Given the description of an element on the screen output the (x, y) to click on. 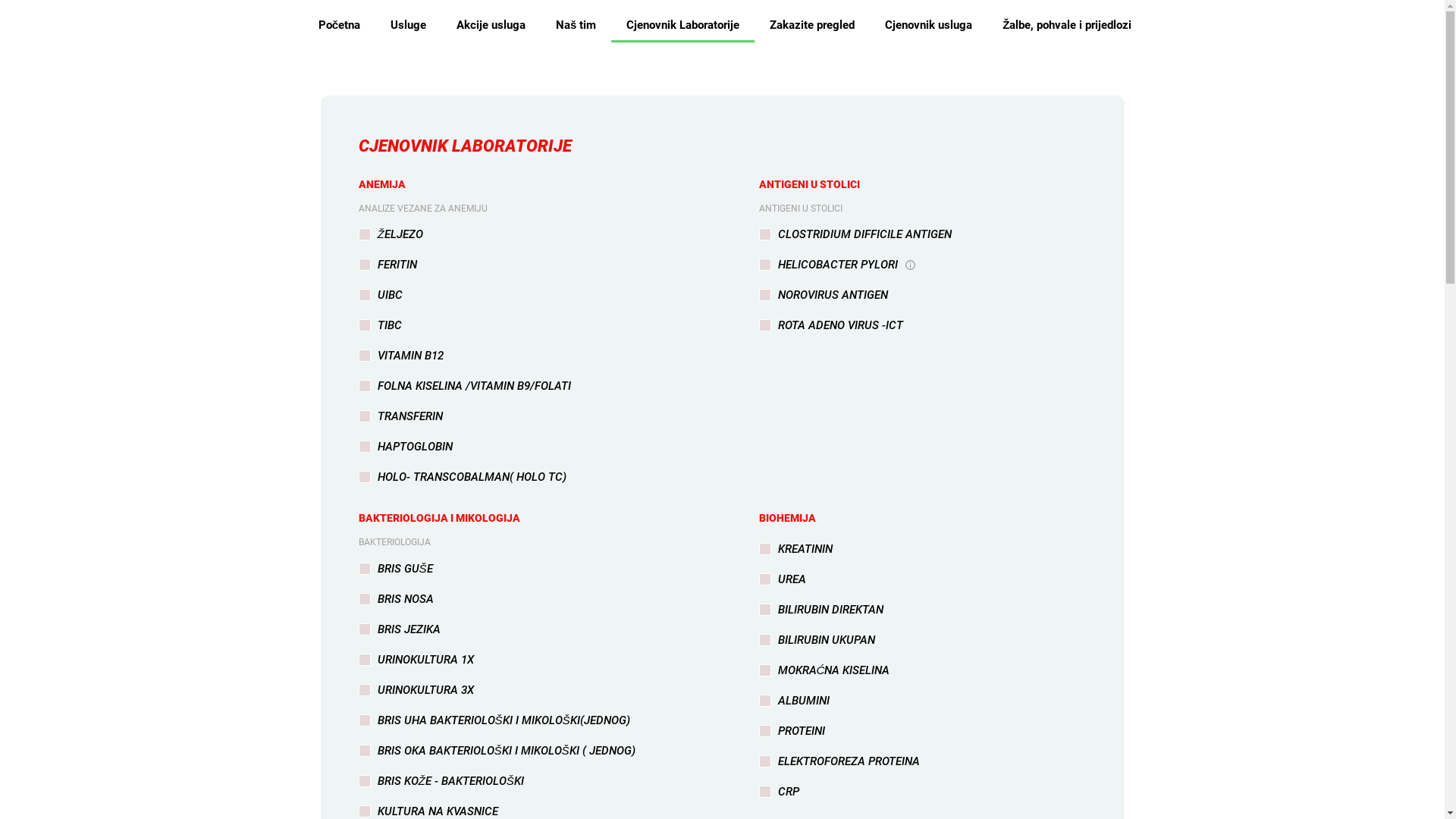
Usluge Element type: text (408, 24)
Cjenovnik usluga Element type: text (928, 24)
Akcije usluga Element type: text (490, 24)
Cjenovnik Laboratorije Element type: text (682, 24)
Zakazite pregled Element type: text (811, 24)
